Given the description of an element on the screen output the (x, y) to click on. 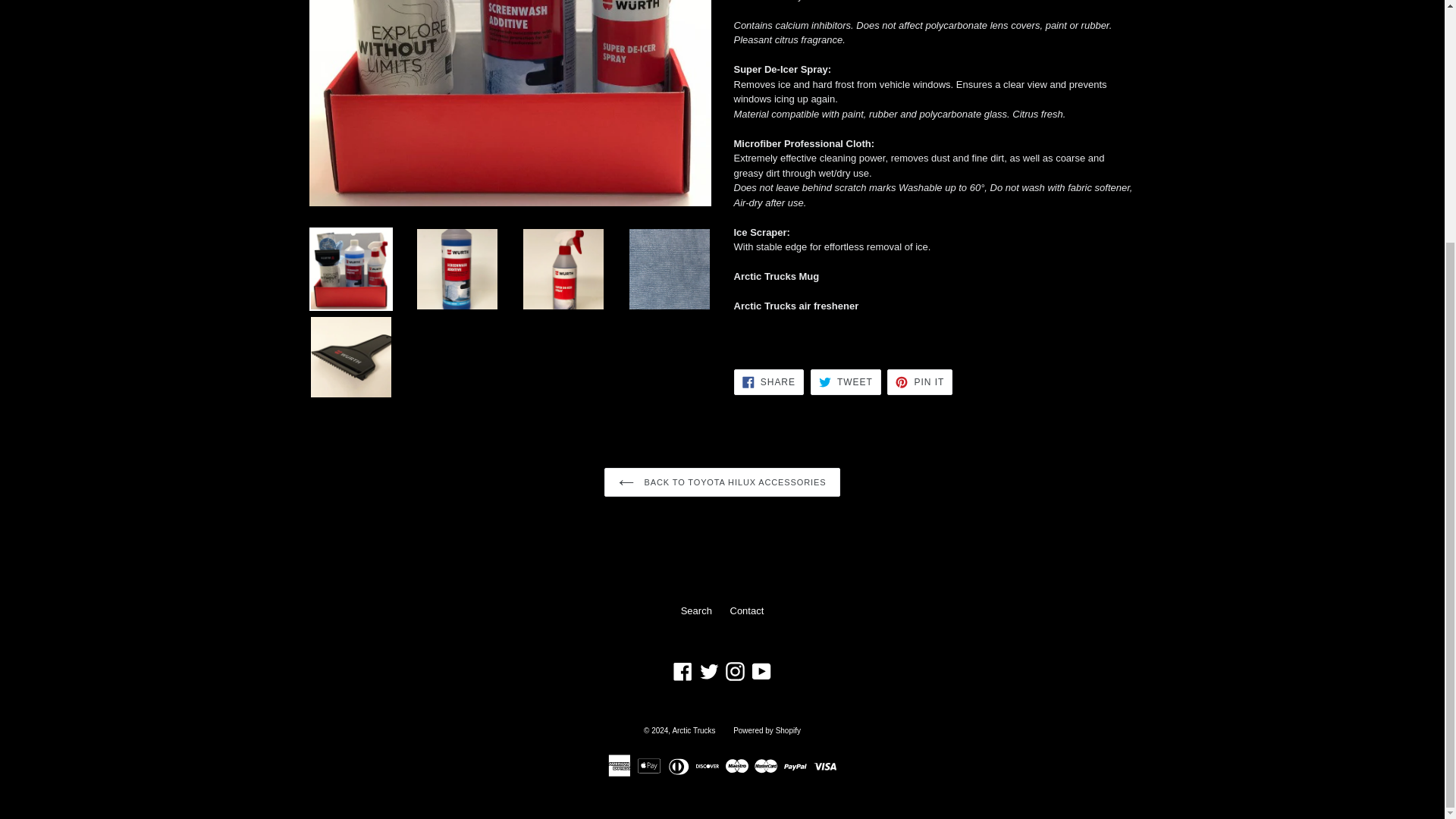
Arctic Trucks on Instagram (734, 670)
Pin on Pinterest (919, 381)
Arctic Trucks on YouTube (761, 670)
Share on Facebook (768, 381)
Arctic Trucks on Twitter (708, 670)
Arctic Trucks on Facebook (682, 670)
Tweet on Twitter (845, 381)
